Given the description of an element on the screen output the (x, y) to click on. 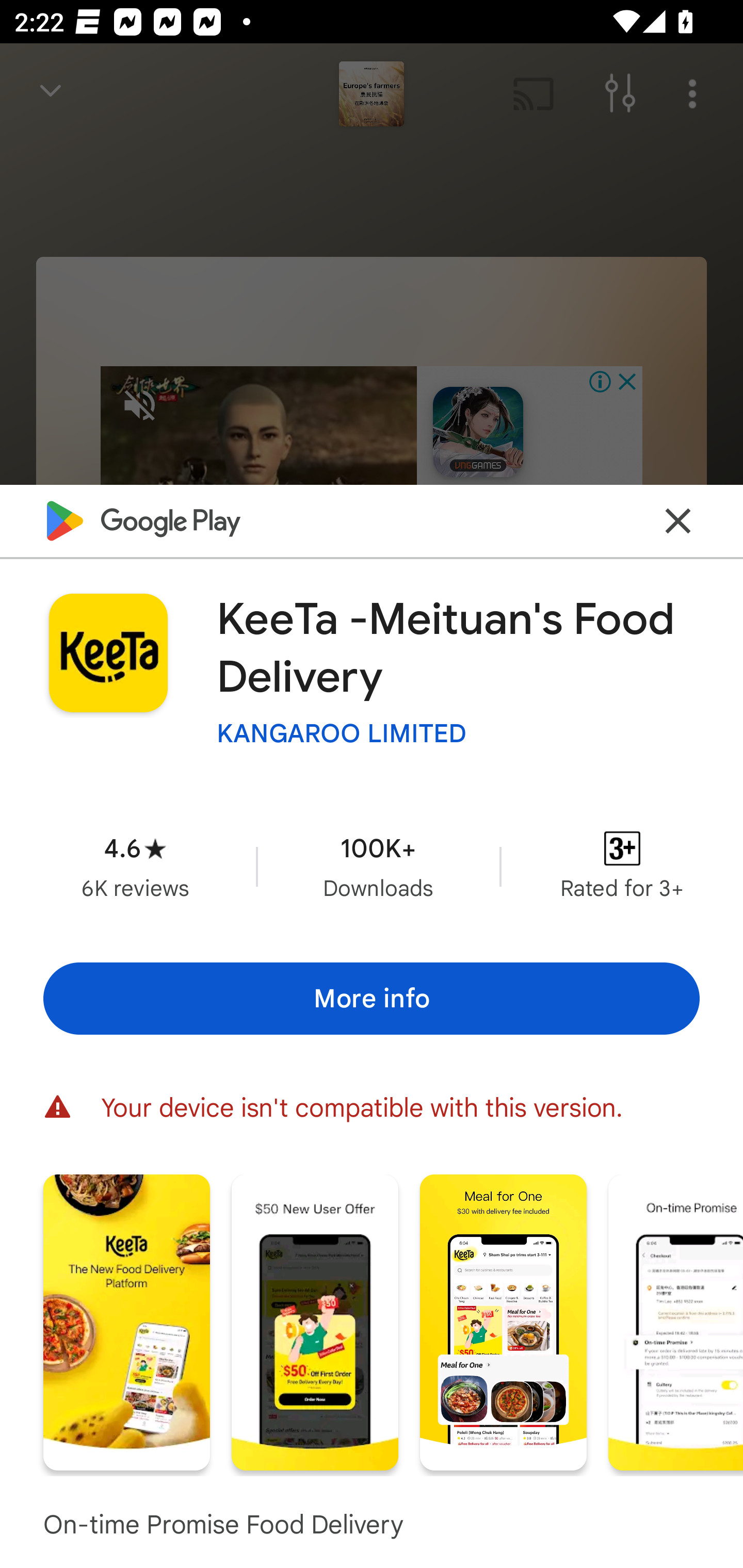
Close (677, 520)
KANGAROO LIMITED (341, 732)
More info (371, 998)
Screenshot "1" of "6" (126, 1322)
Screenshot "2" of "6" (314, 1322)
Screenshot "3" of "6" (502, 1322)
Screenshot "4" of "6" (675, 1322)
